Given the description of an element on the screen output the (x, y) to click on. 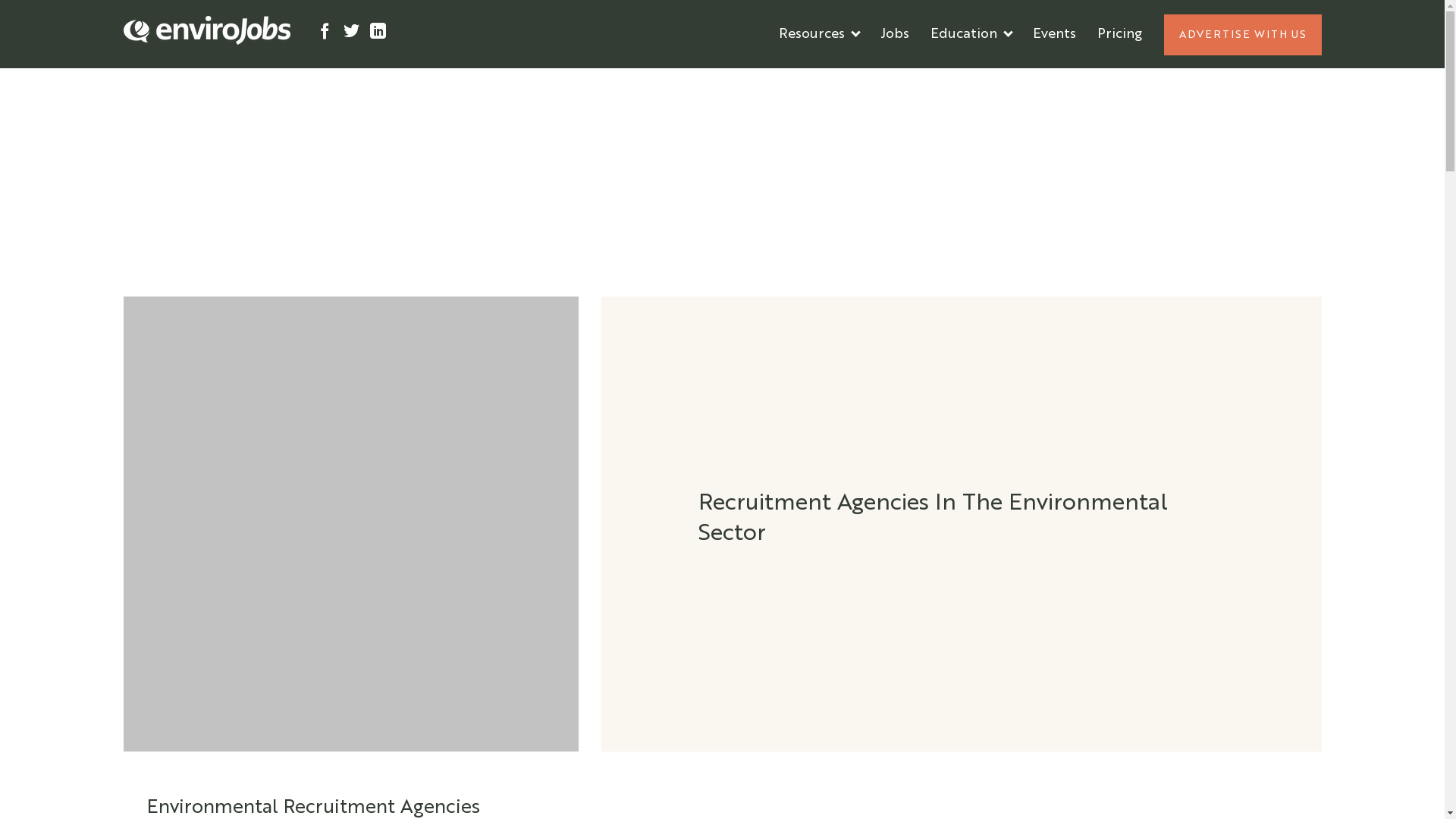
Short Courses Element type: text (975, 79)
How To Write A Resume Program Element type: text (887, 79)
Free Career Help Element type: text (833, 79)
Skip to main content Element type: text (69, 0)
Education Element type: text (970, 34)
Universities Element type: text (967, 79)
Pricing Element type: text (1118, 34)
ADVERTISE WITH US Element type: text (1242, 33)
Environmental Job Resources Element type: text (874, 79)
Resources Element type: text (818, 34)
Events Element type: text (1054, 34)
Jobs Element type: text (894, 34)
Online Courses Element type: text (979, 79)
